Given the description of an element on the screen output the (x, y) to click on. 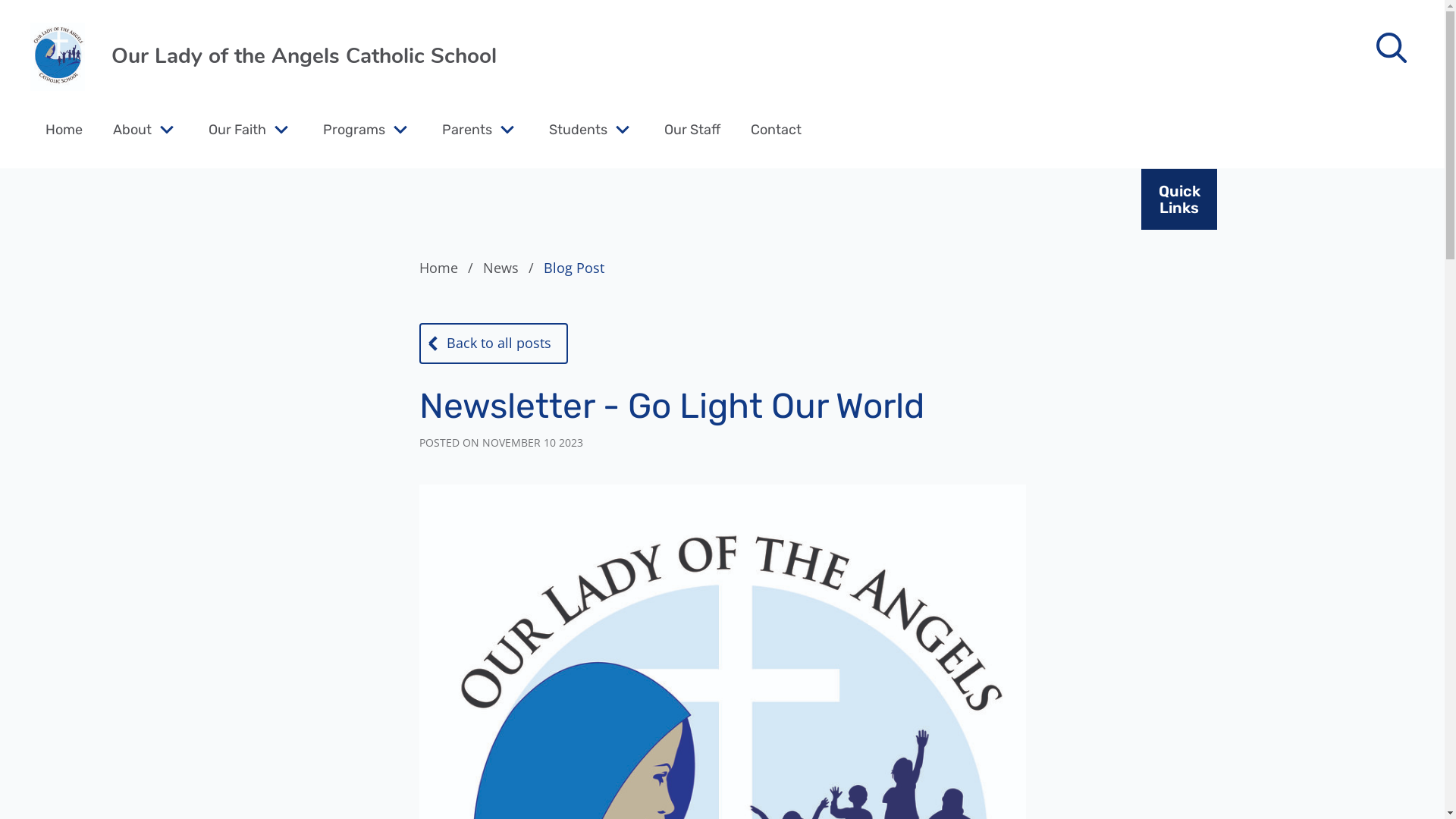
Our Faith Element type: text (237, 129)
Our Staff Element type: text (692, 129)
Programs Element type: text (354, 129)
News Element type: text (510, 267)
Quick Links Element type: text (1179, 198)
home Element type: hover (57, 56)
Home Element type: text (448, 267)
Home Element type: text (63, 129)
Back to all posts Element type: text (492, 343)
Students Element type: text (578, 129)
Contact Element type: text (775, 129)
About Element type: text (131, 129)
Search Element type: text (45, 19)
Parents Element type: text (467, 129)
